Given the description of an element on the screen output the (x, y) to click on. 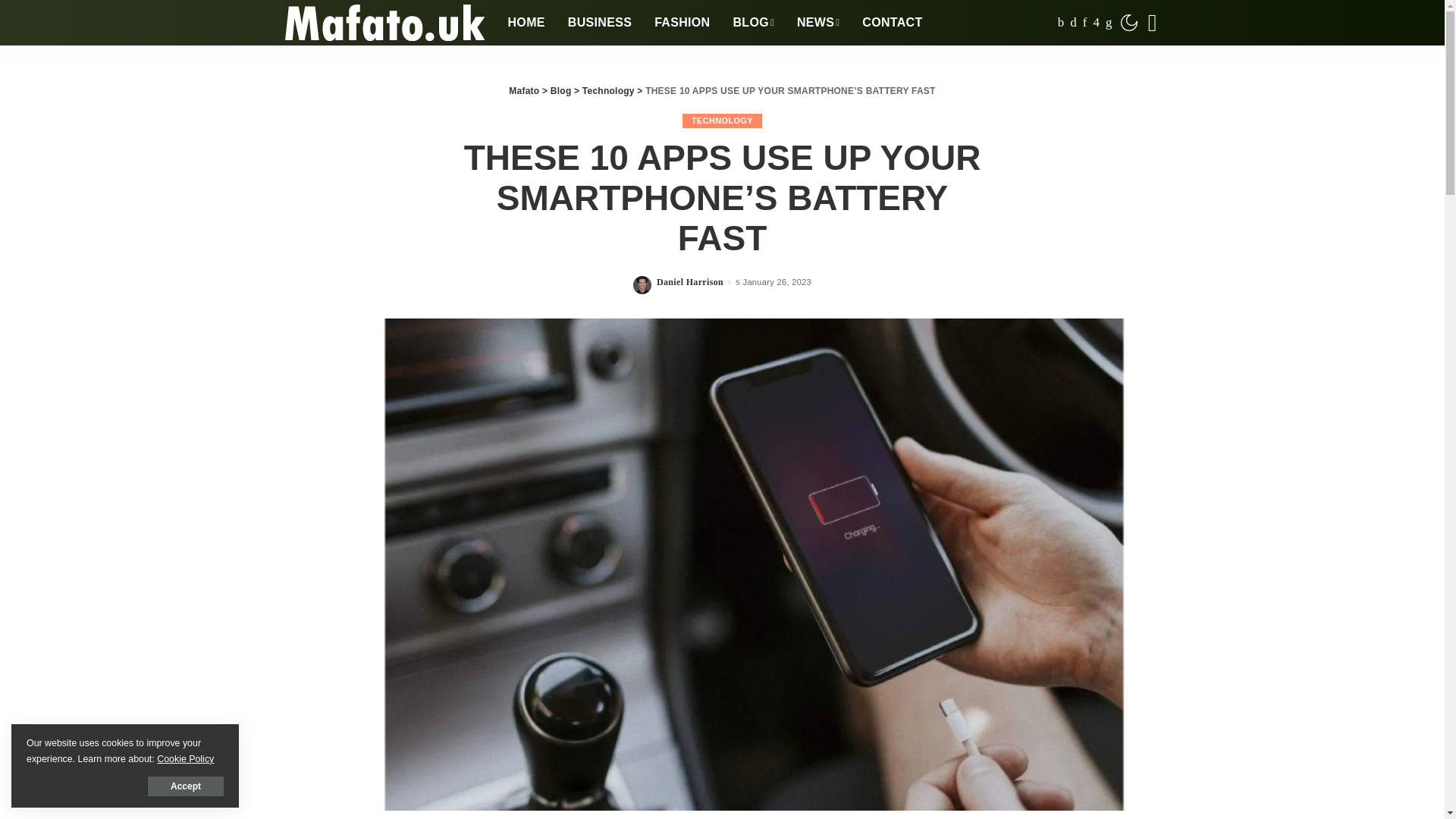
Mafato (383, 22)
BLOG (754, 22)
FASHION (681, 22)
BUSINESS (599, 22)
HOME (526, 22)
NEWS (818, 22)
